Given the description of an element on the screen output the (x, y) to click on. 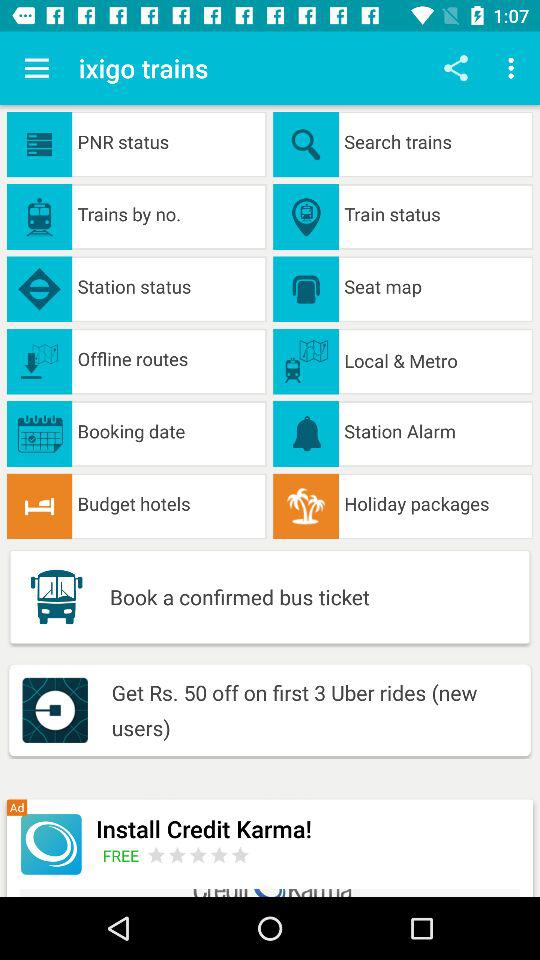
tap free (123, 855)
